Given the description of an element on the screen output the (x, y) to click on. 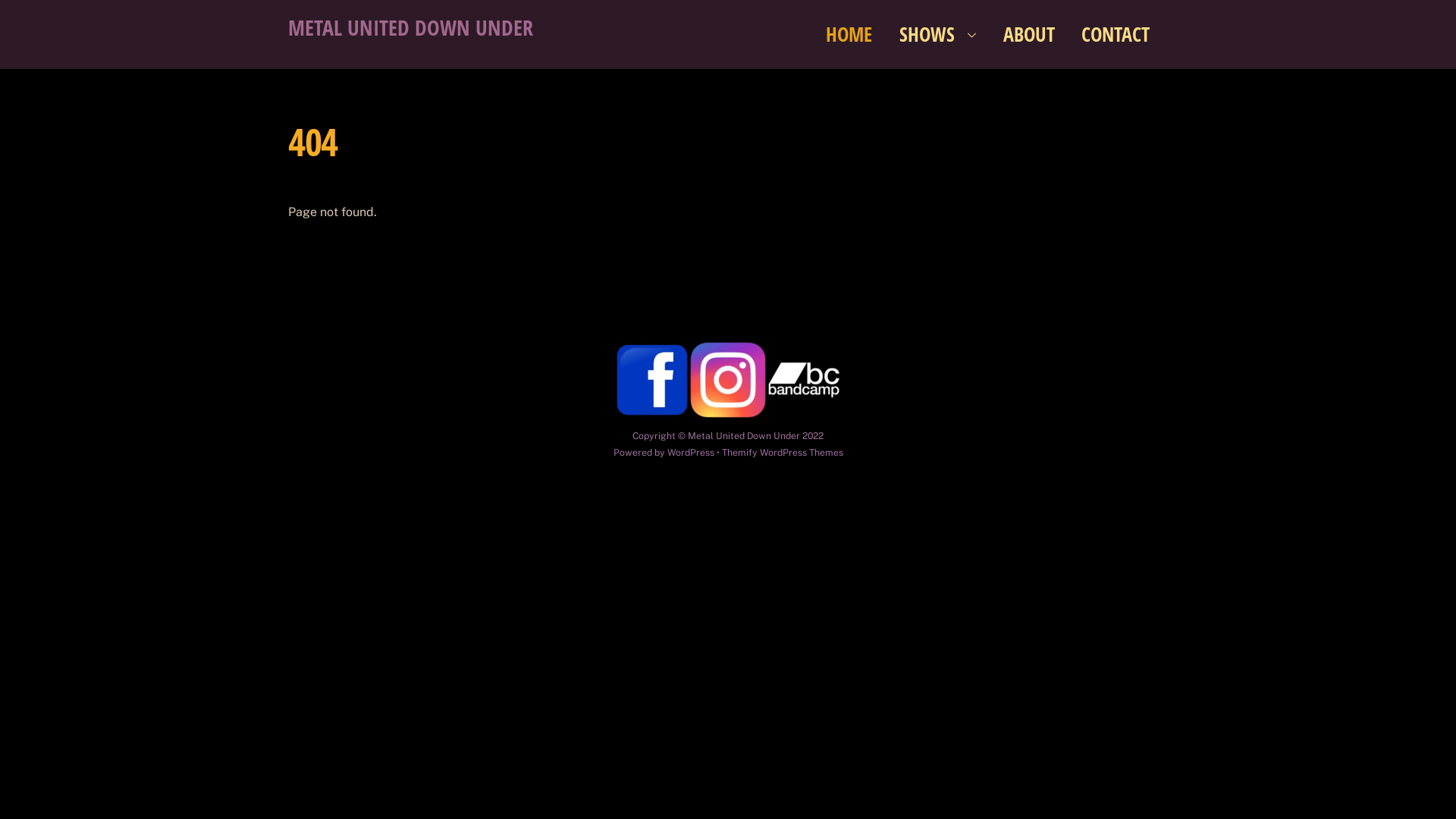
CONTACT Element type: text (1115, 34)
ABOUT Element type: text (1028, 34)
WordPress Element type: text (690, 452)
Themify WordPress Themes Element type: text (782, 452)
SHOWS Element type: text (937, 34)
HOME Element type: text (849, 34)
